Given the description of an element on the screen output the (x, y) to click on. 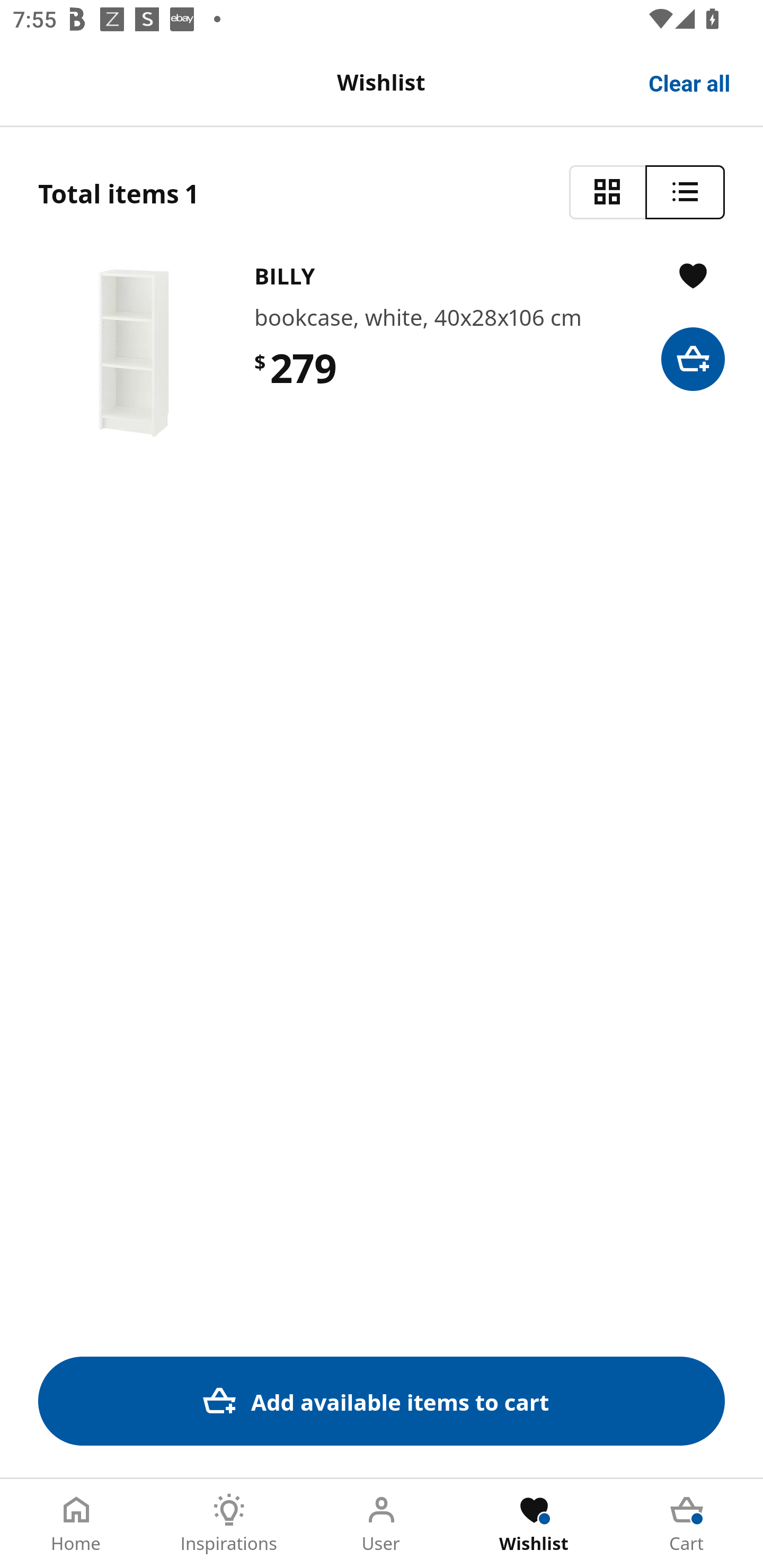
Clear all (689, 81)
​B​I​L​L​Y​
bookcase, white, 40x28x106 cm
$
279 (381, 352)
Add available items to cart (381, 1400)
Home
Tab 1 of 5 (76, 1522)
Inspirations
Tab 2 of 5 (228, 1522)
User
Tab 3 of 5 (381, 1522)
Wishlist
Tab 4 of 5 (533, 1522)
Cart
Tab 5 of 5 (686, 1522)
